Given the description of an element on the screen output the (x, y) to click on. 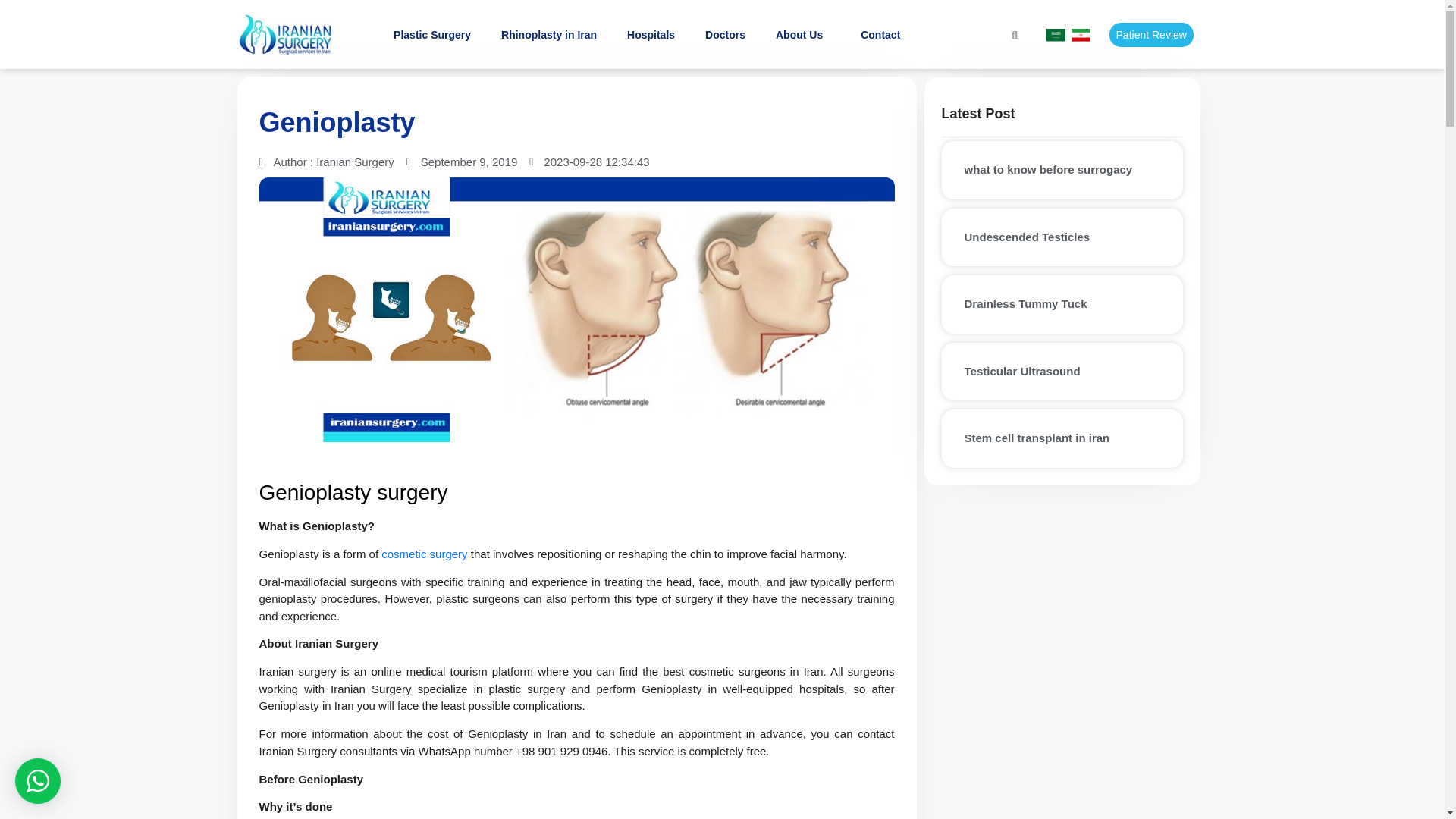
Patient Review (1151, 34)
Contact (879, 34)
Plastic Surgery (431, 34)
About Us (802, 34)
Rhinoplasty in Iran (548, 34)
Doctors (724, 34)
Hospitals (651, 34)
